Given the description of an element on the screen output the (x, y) to click on. 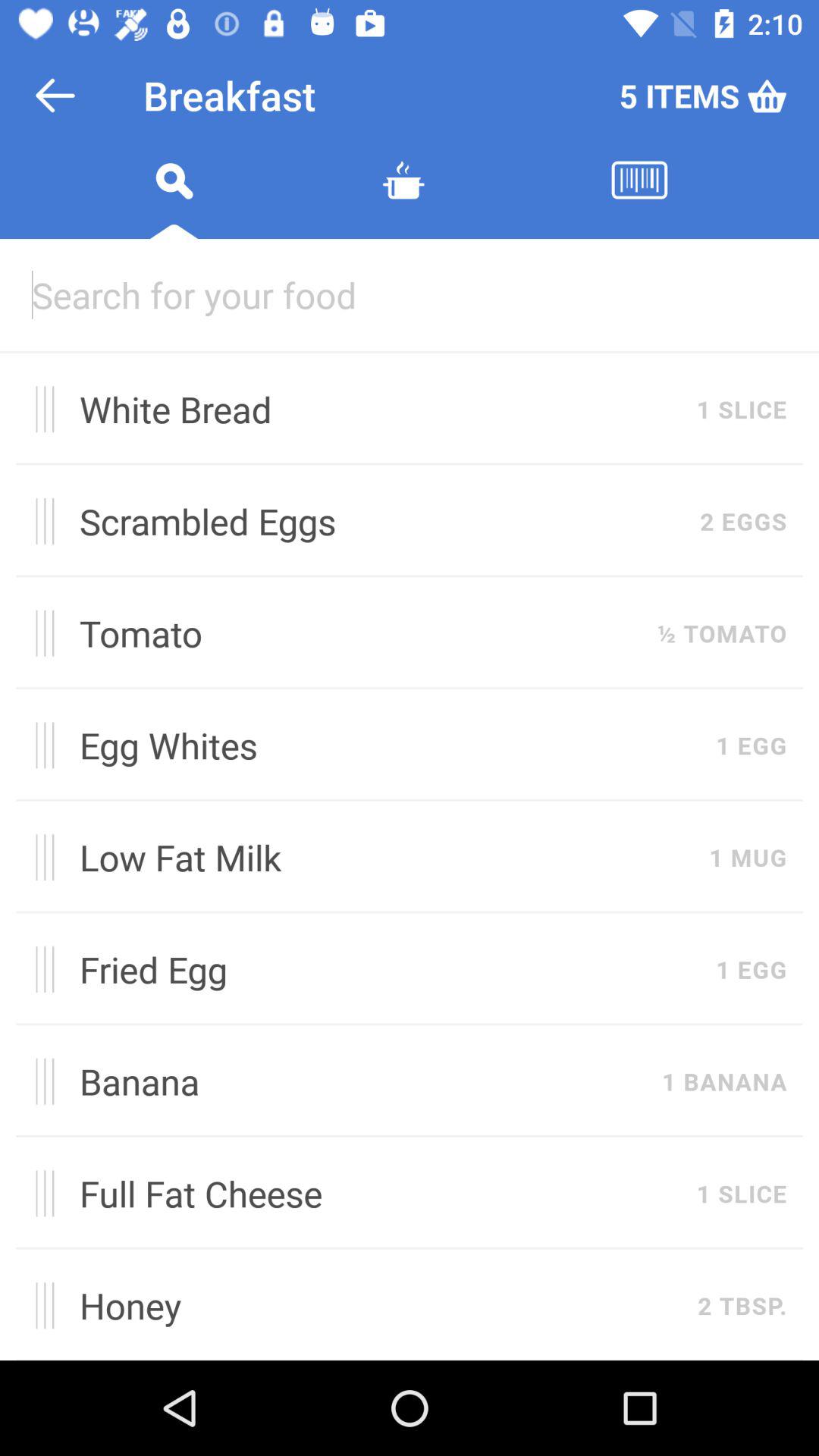
scroll until the 5 items icon (703, 95)
